Given the description of an element on the screen output the (x, y) to click on. 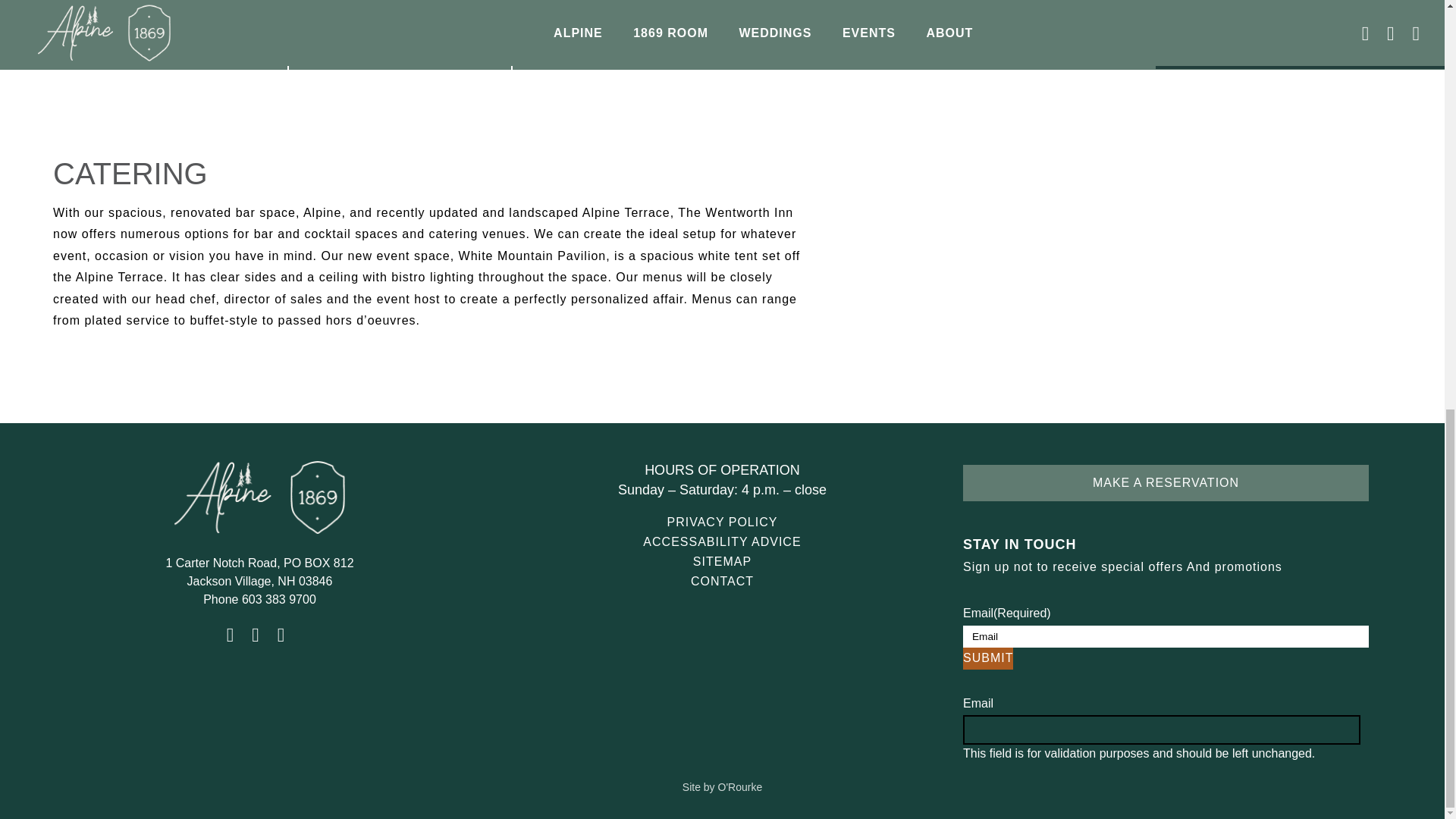
Submit (987, 658)
